Given the description of an element on the screen output the (x, y) to click on. 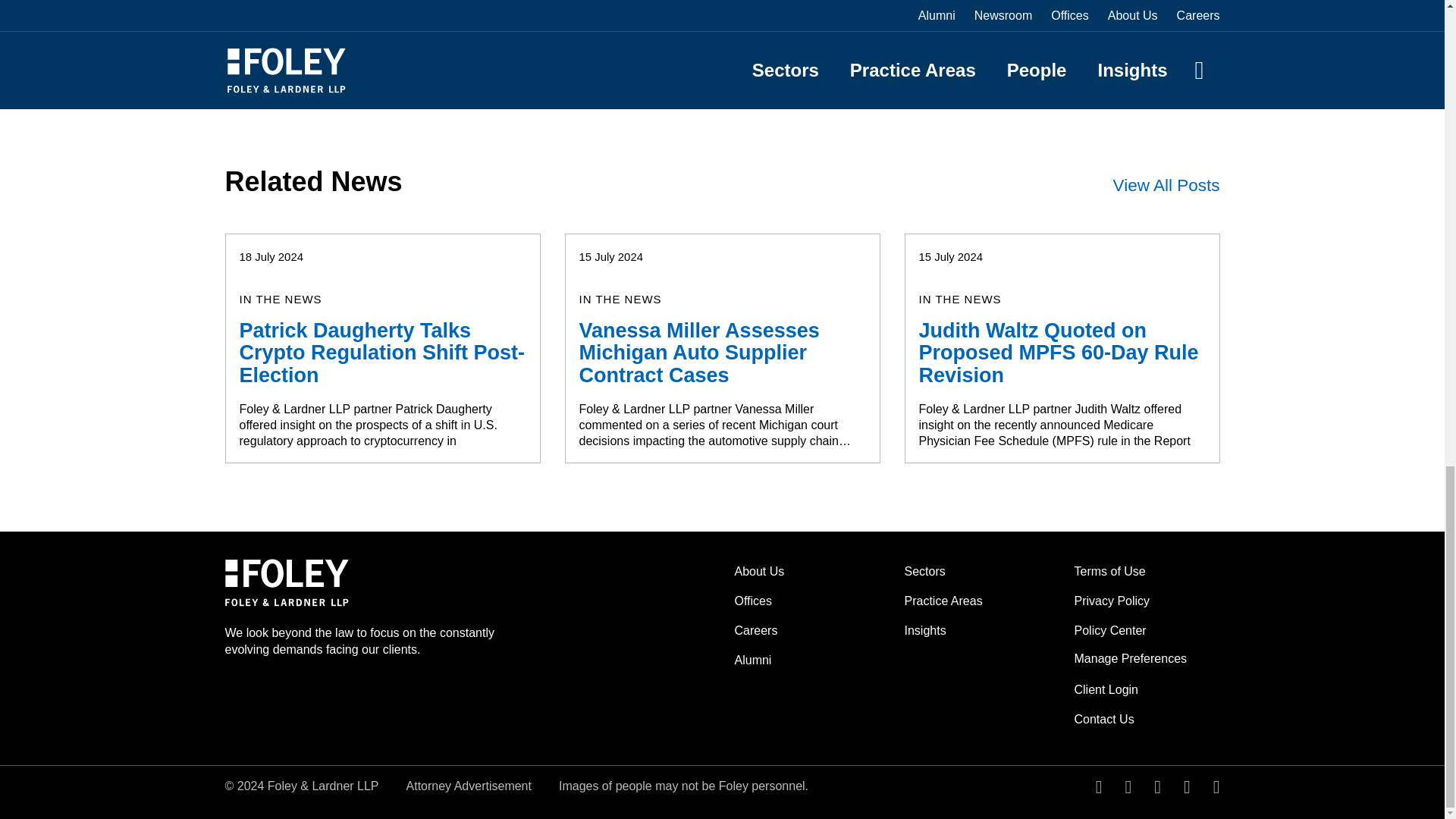
313.234.7168 (272, 88)
